Given the description of an element on the screen output the (x, y) to click on. 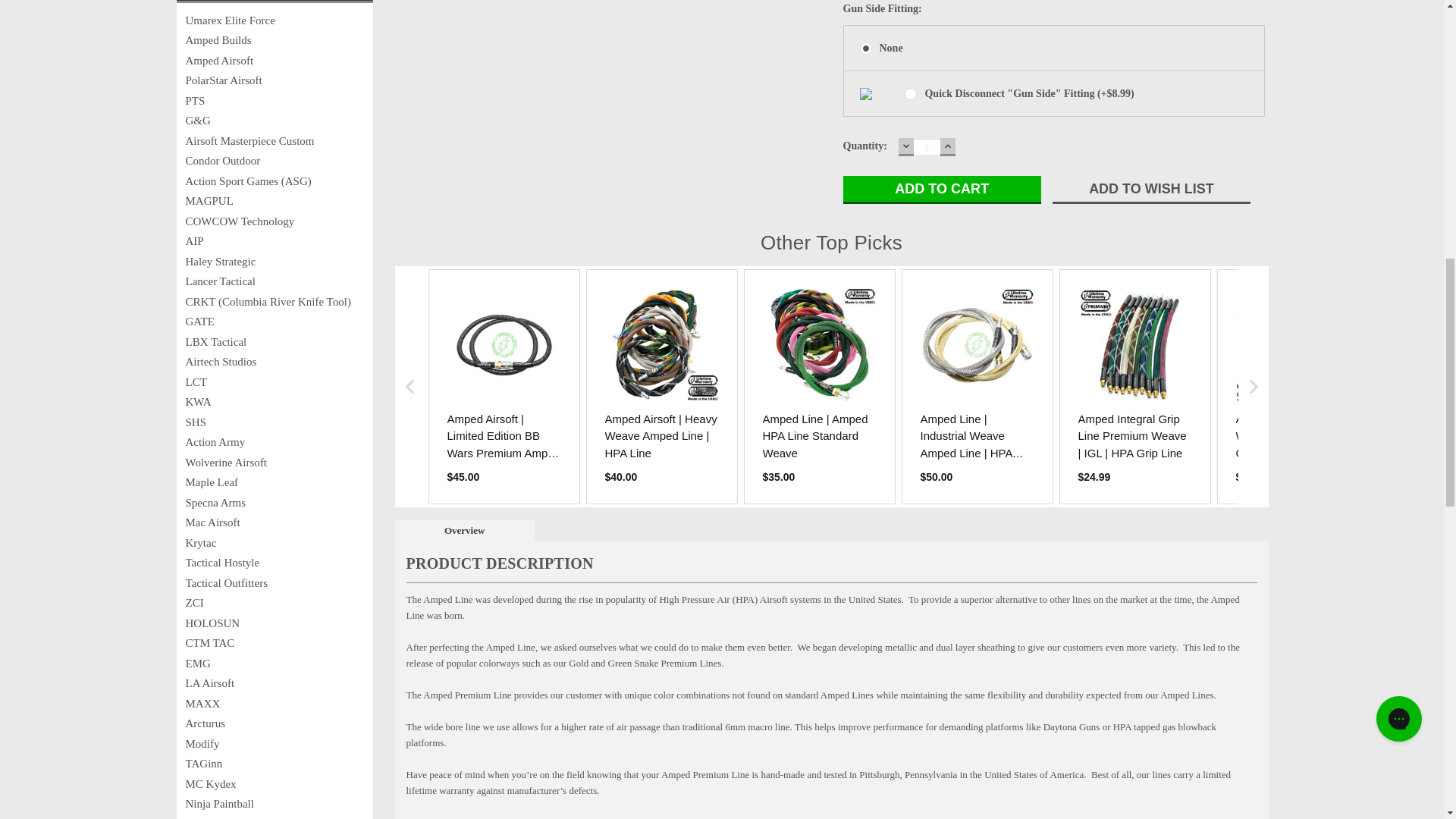
Add to Cart (942, 189)
1 (927, 147)
